Given the description of an element on the screen output the (x, y) to click on. 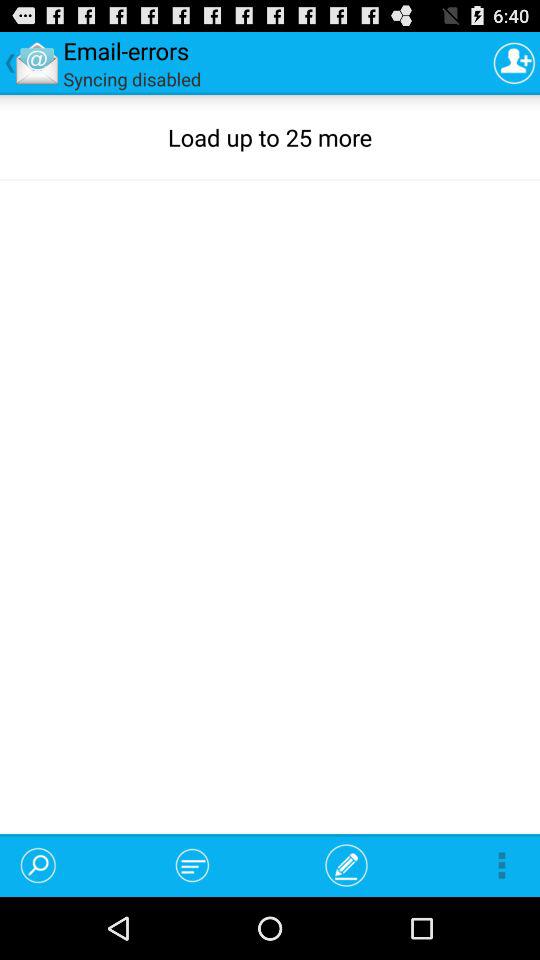
guardalo todo (514, 62)
